Given the description of an element on the screen output the (x, y) to click on. 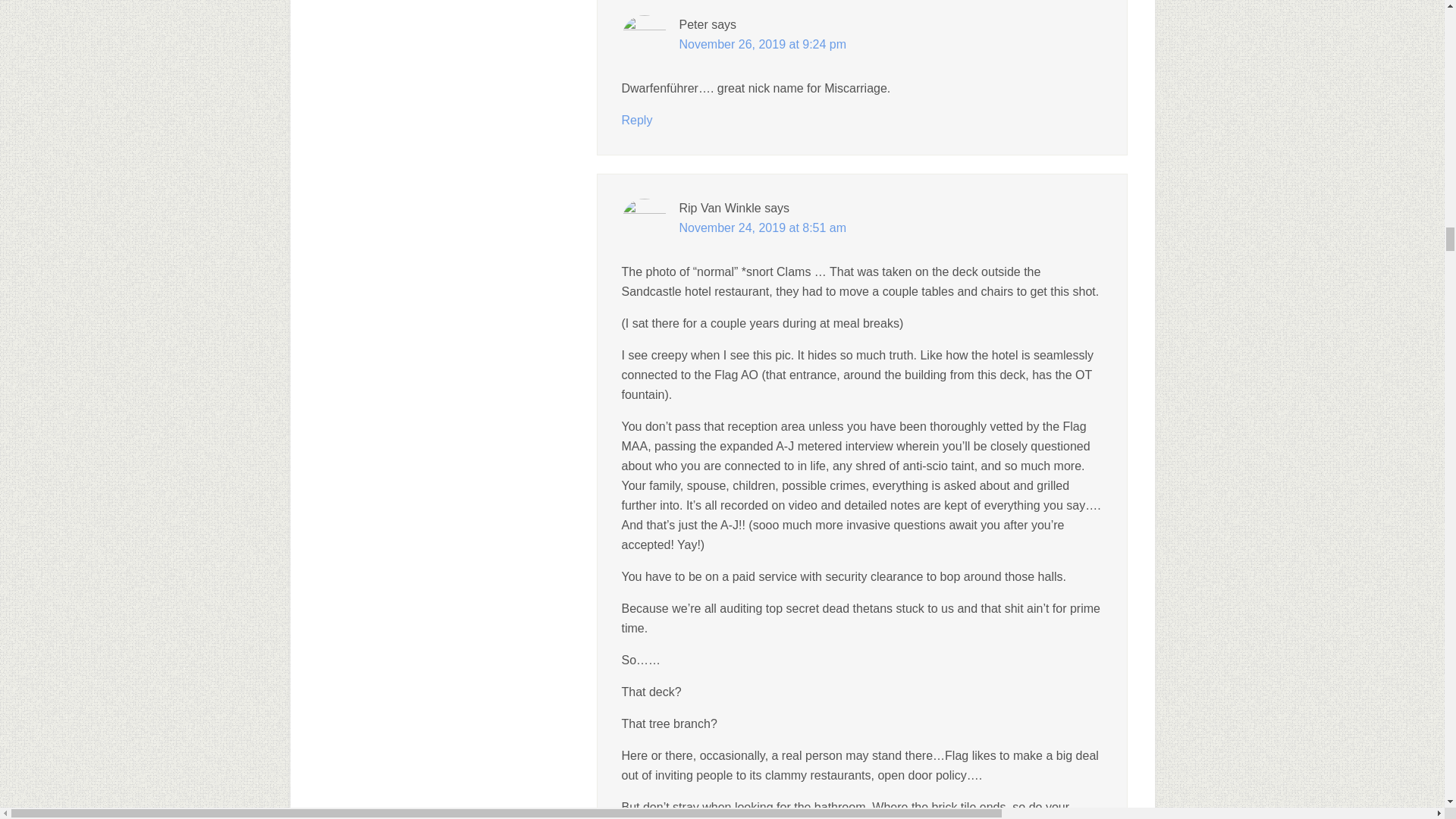
November 26, 2019 at 9:24 pm (763, 43)
November 24, 2019 at 8:51 am (763, 227)
Reply (636, 119)
